Given the description of an element on the screen output the (x, y) to click on. 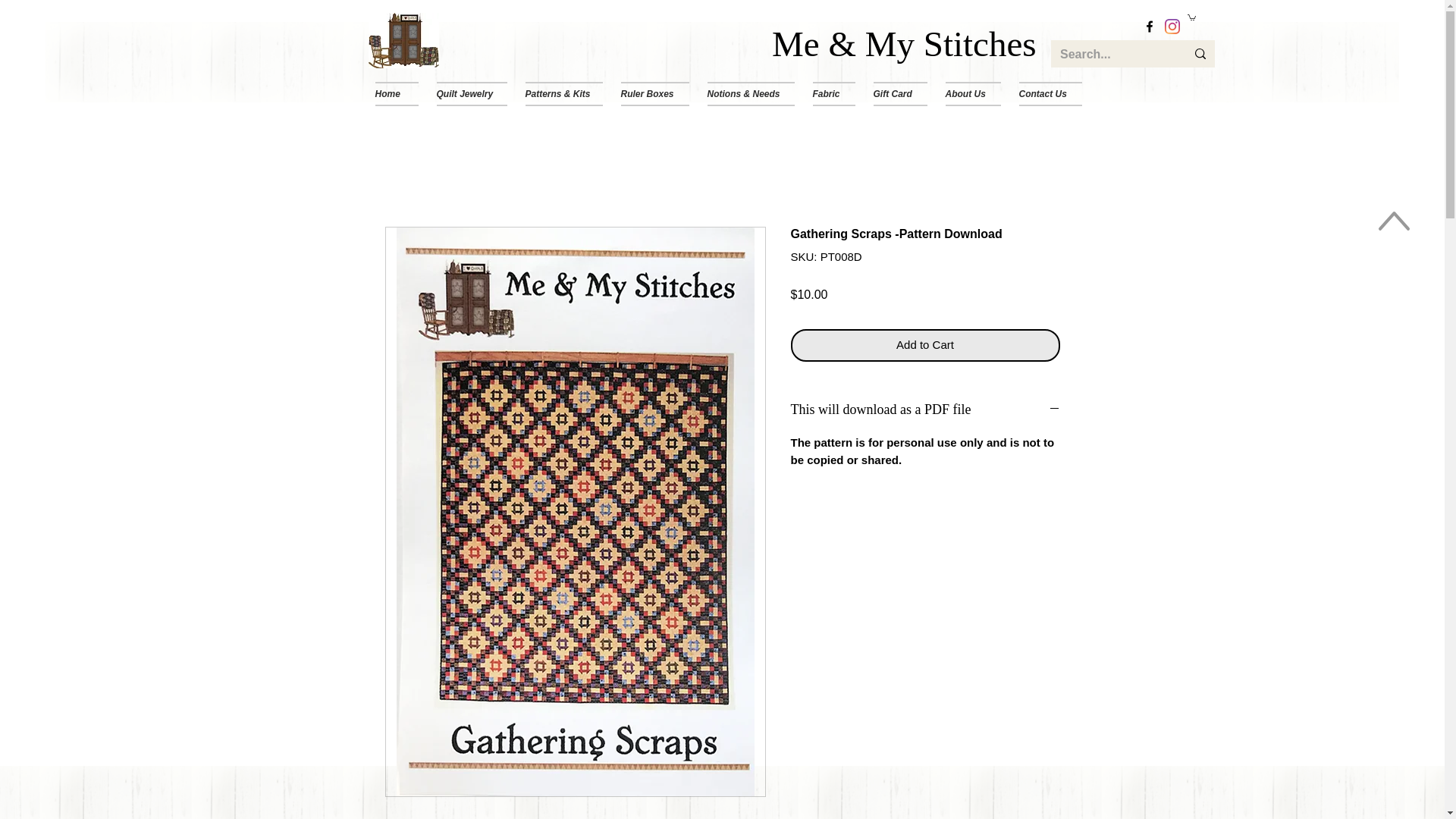
Quilt Jewelry (472, 93)
Home (400, 93)
About Us (972, 93)
Ruler Boxes (654, 93)
Gift Card (900, 93)
